Given the description of an element on the screen output the (x, y) to click on. 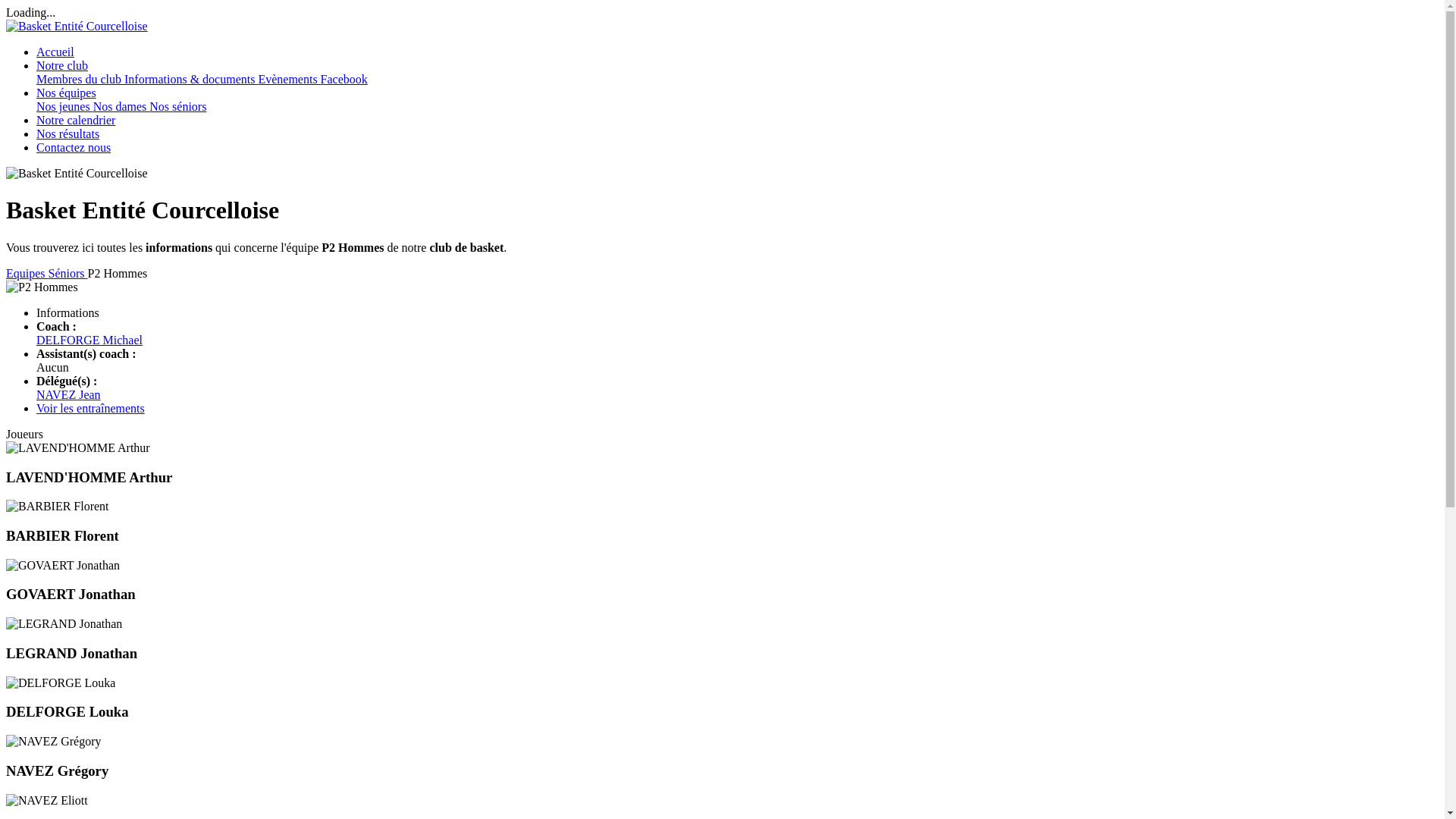
Equipes Element type: text (27, 272)
Informations & documents Element type: text (190, 78)
Facebook Element type: text (343, 78)
Notre club Element type: text (61, 65)
NAVEZ Jean Element type: text (68, 394)
Membres du club Element type: text (80, 78)
Notre calendrier Element type: text (75, 119)
Accueil Element type: text (55, 51)
Contactez nous Element type: text (73, 147)
DELFORGE Michael Element type: text (89, 339)
Nos jeunes Element type: text (64, 106)
Nos dames Element type: text (121, 106)
